Given the description of an element on the screen output the (x, y) to click on. 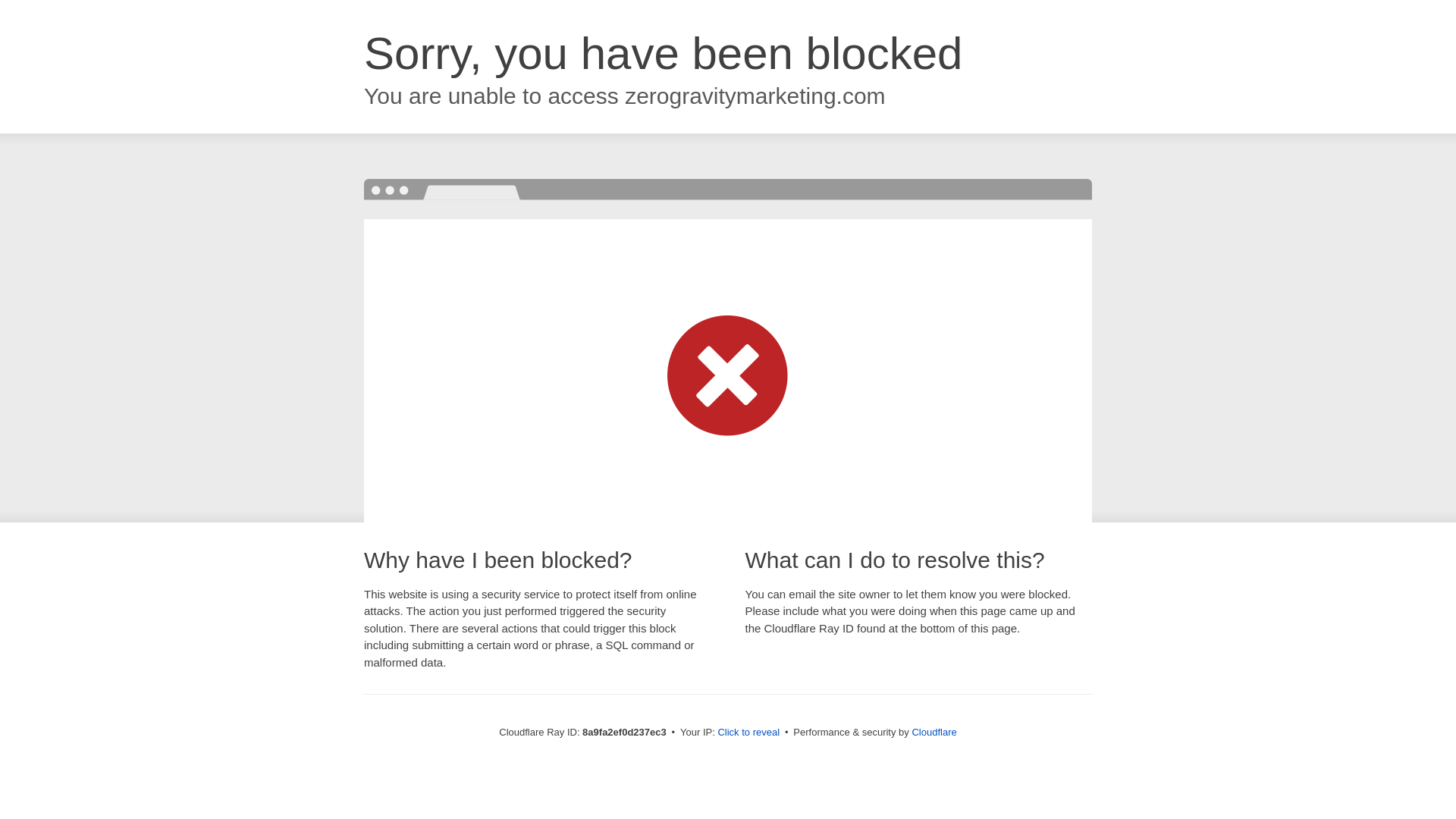
Cloudflare (933, 731)
Click to reveal (747, 732)
